Given the description of an element on the screen output the (x, y) to click on. 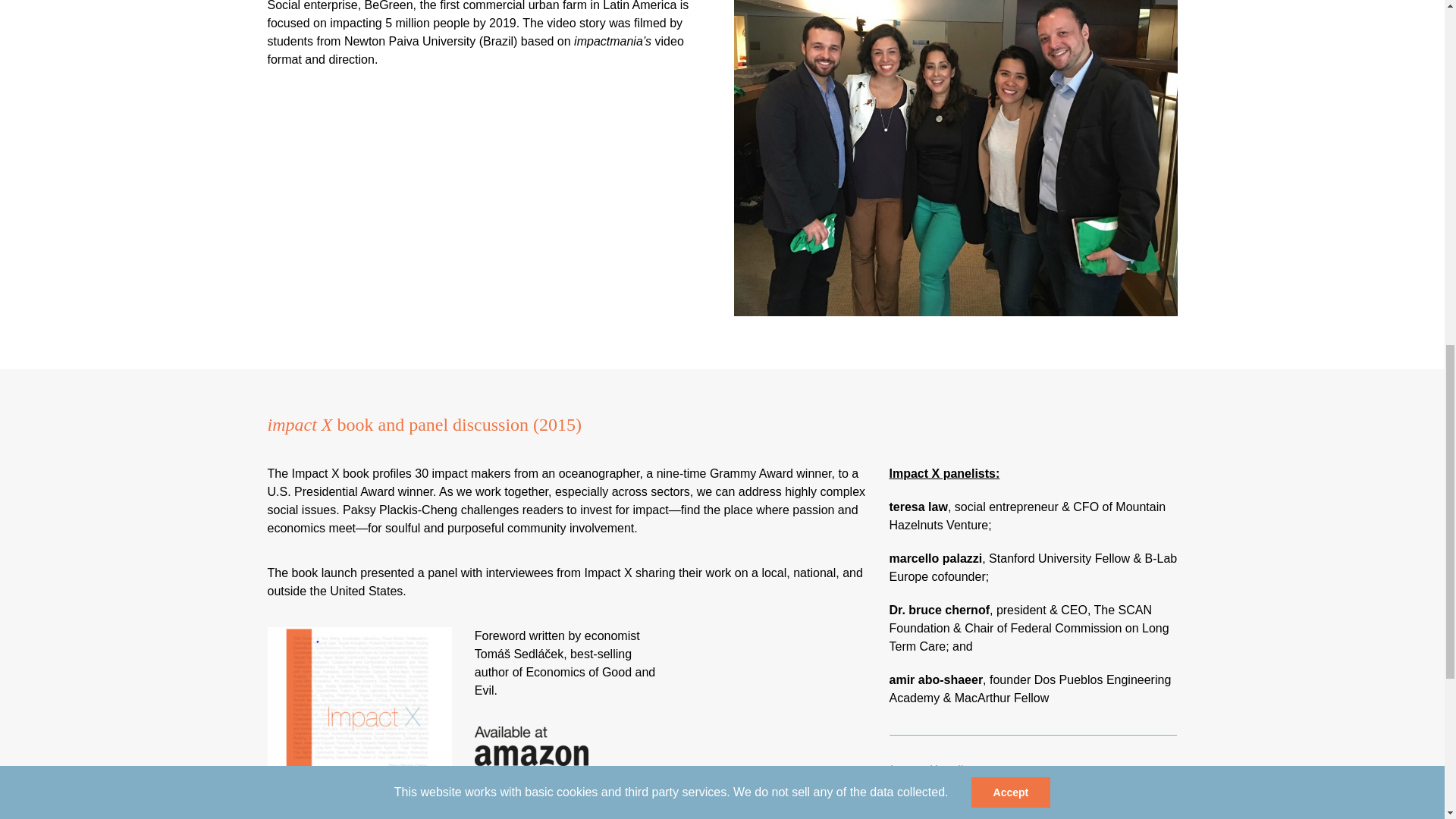
One of the First Commercial Urban Farm in Latin America (488, 207)
amazon (531, 753)
Impact X Book Cover (358, 704)
